Given the description of an element on the screen output the (x, y) to click on. 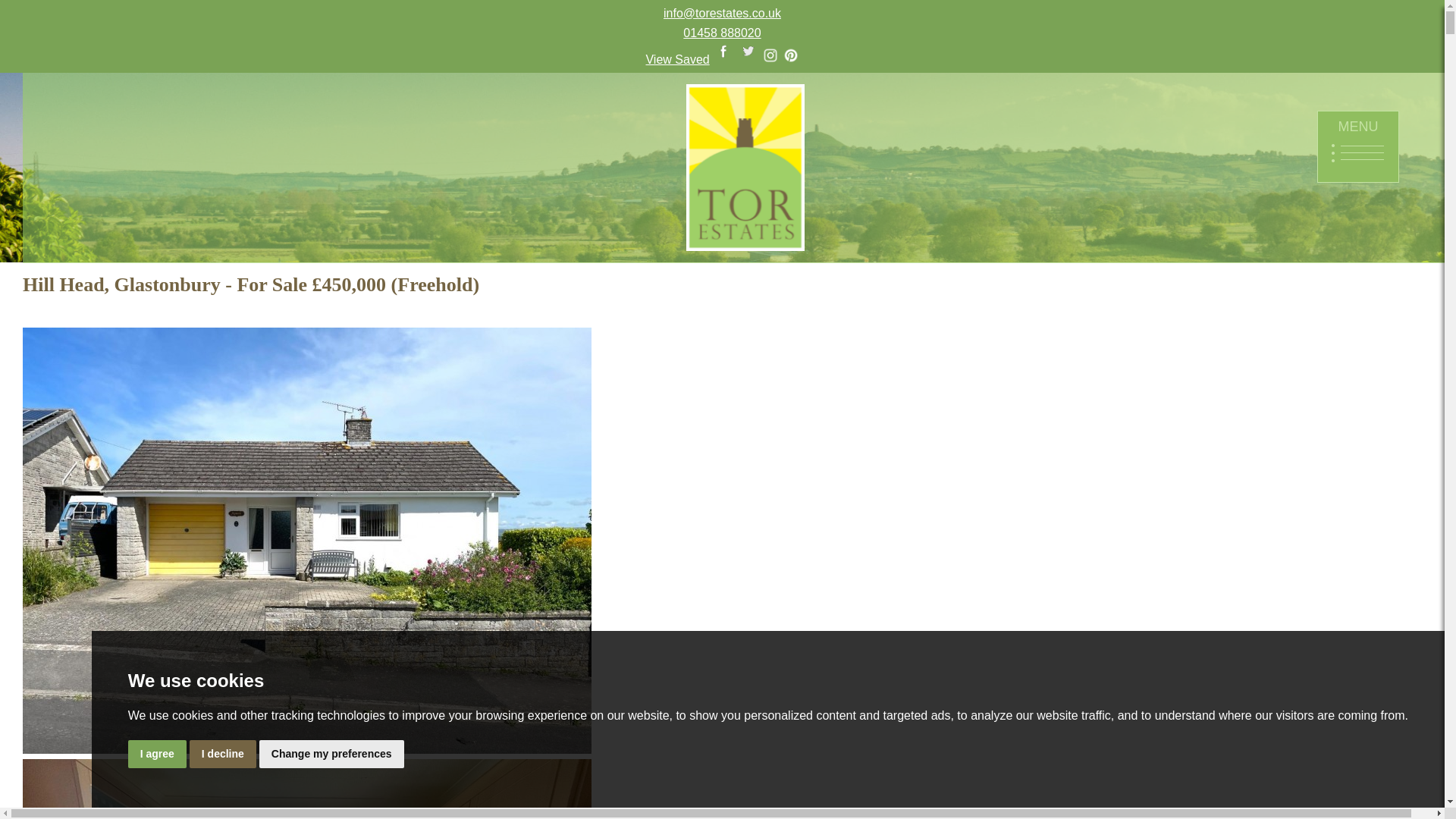
MENU (1358, 146)
View Saved (677, 59)
Change my preferences (331, 754)
01458 888020 (721, 32)
I decline (222, 754)
I agree (157, 754)
